Given the description of an element on the screen output the (x, y) to click on. 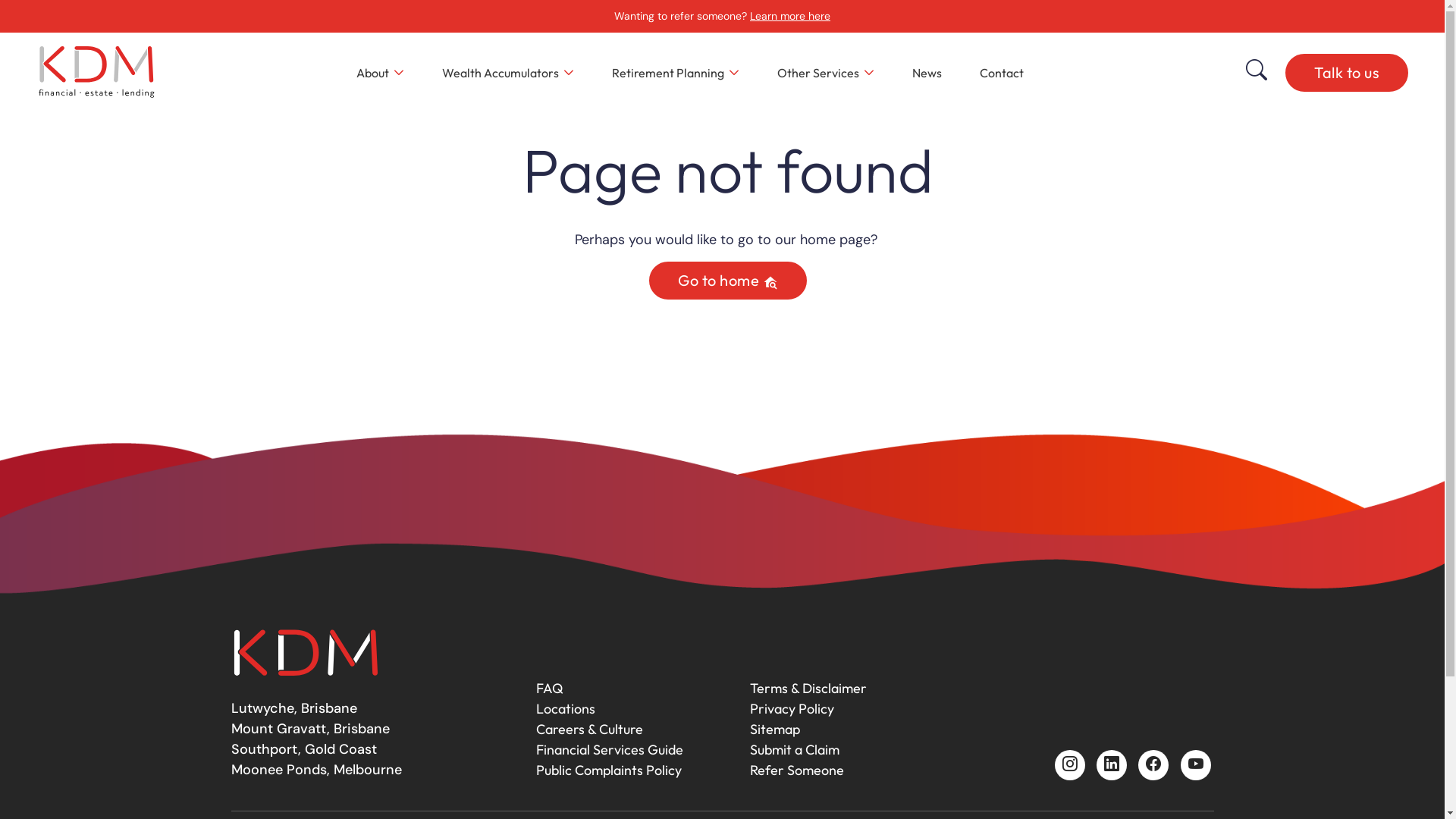
Talk to us Element type: text (1346, 72)
Terms & Disclaimer Element type: text (807, 687)
About Element type: text (379, 72)
Submit a Claim Element type: text (793, 749)
Wealth Accumulators Element type: text (506, 72)
Public Complaints Policy Element type: text (607, 769)
FAQ Element type: text (548, 687)
Careers & Culture Element type: text (588, 728)
Mount Gravatt, Brisbane Element type: text (309, 728)
Other Services Element type: text (824, 72)
Sitemap Element type: text (774, 728)
Refer Someone Element type: text (796, 769)
Retirement Planning Element type: text (674, 72)
Locations Element type: text (564, 708)
Go to home Element type: text (727, 280)
Southport, Gold Coast Element type: text (303, 749)
Privacy Policy Element type: text (791, 708)
Learn more here Element type: text (789, 15)
News Element type: text (925, 72)
Moonee Ponds, Melbourne Element type: text (315, 769)
Financial Services Guide Element type: text (608, 749)
Lutwyche, Brisbane Element type: text (293, 708)
Contact Element type: text (1001, 72)
